Given the description of an element on the screen output the (x, y) to click on. 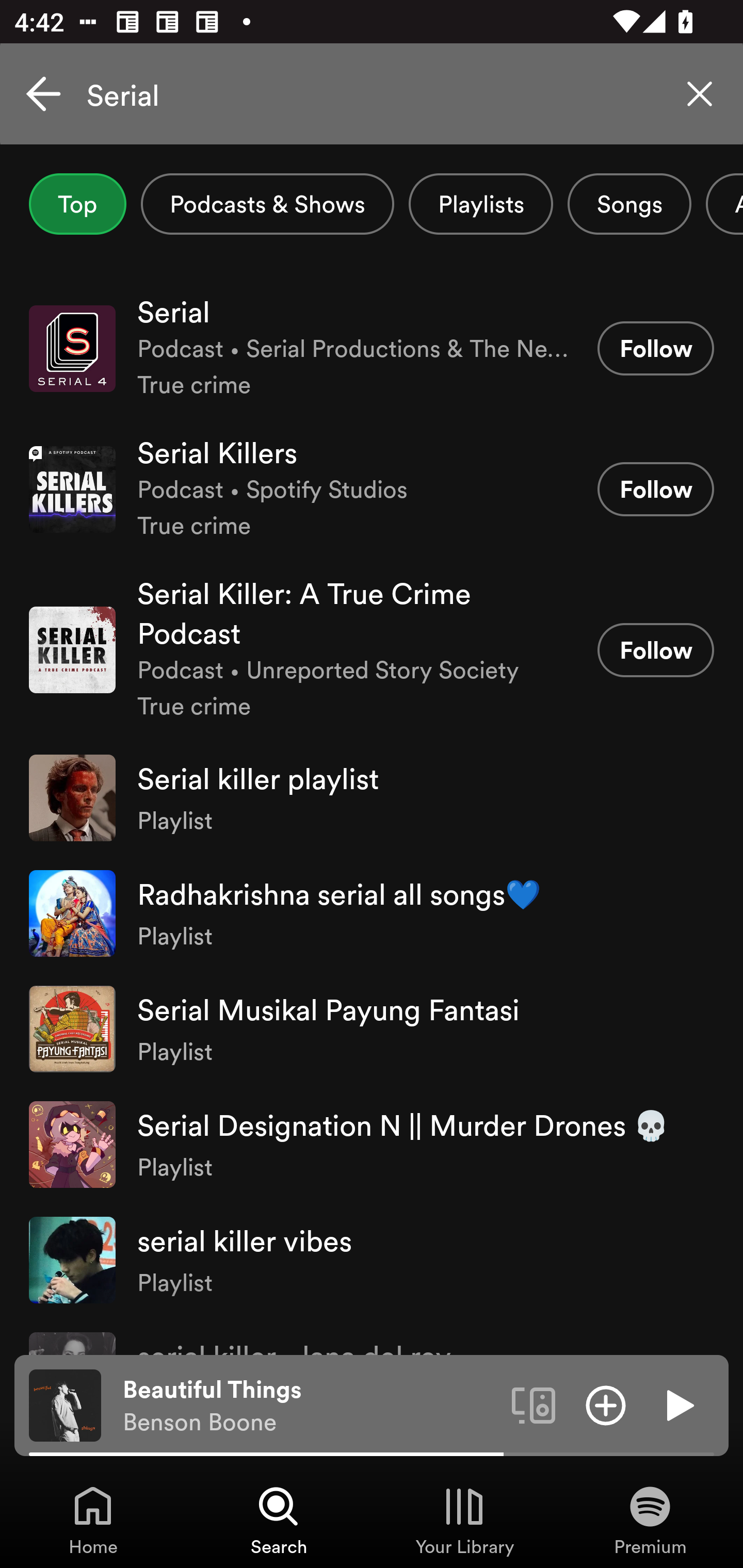
Serial (371, 93)
Cancel (43, 93)
Clear search query (699, 93)
Top (77, 203)
Podcasts & Shows (267, 203)
Playlists (480, 203)
Songs (629, 203)
Follow (655, 347)
Follow (655, 488)
Follow (655, 649)
Serial killer playlist Playlist (371, 798)
Radhakrishna serial all songs💙 Playlist (371, 913)
Serial Musikal Payung Fantasi Playlist (371, 1028)
Serial Designation N || Murder Drones 💀 Playlist (371, 1144)
serial killer vibes Playlist (371, 1259)
Beautiful Things Benson Boone (309, 1405)
The cover art of the currently playing track (64, 1404)
Connect to a device. Opens the devices menu (533, 1404)
Add item (605, 1404)
Play (677, 1404)
Home, Tab 1 of 4 Home Home (92, 1519)
Search, Tab 2 of 4 Search Search (278, 1519)
Your Library, Tab 3 of 4 Your Library Your Library (464, 1519)
Premium, Tab 4 of 4 Premium Premium (650, 1519)
